Given the description of an element on the screen output the (x, y) to click on. 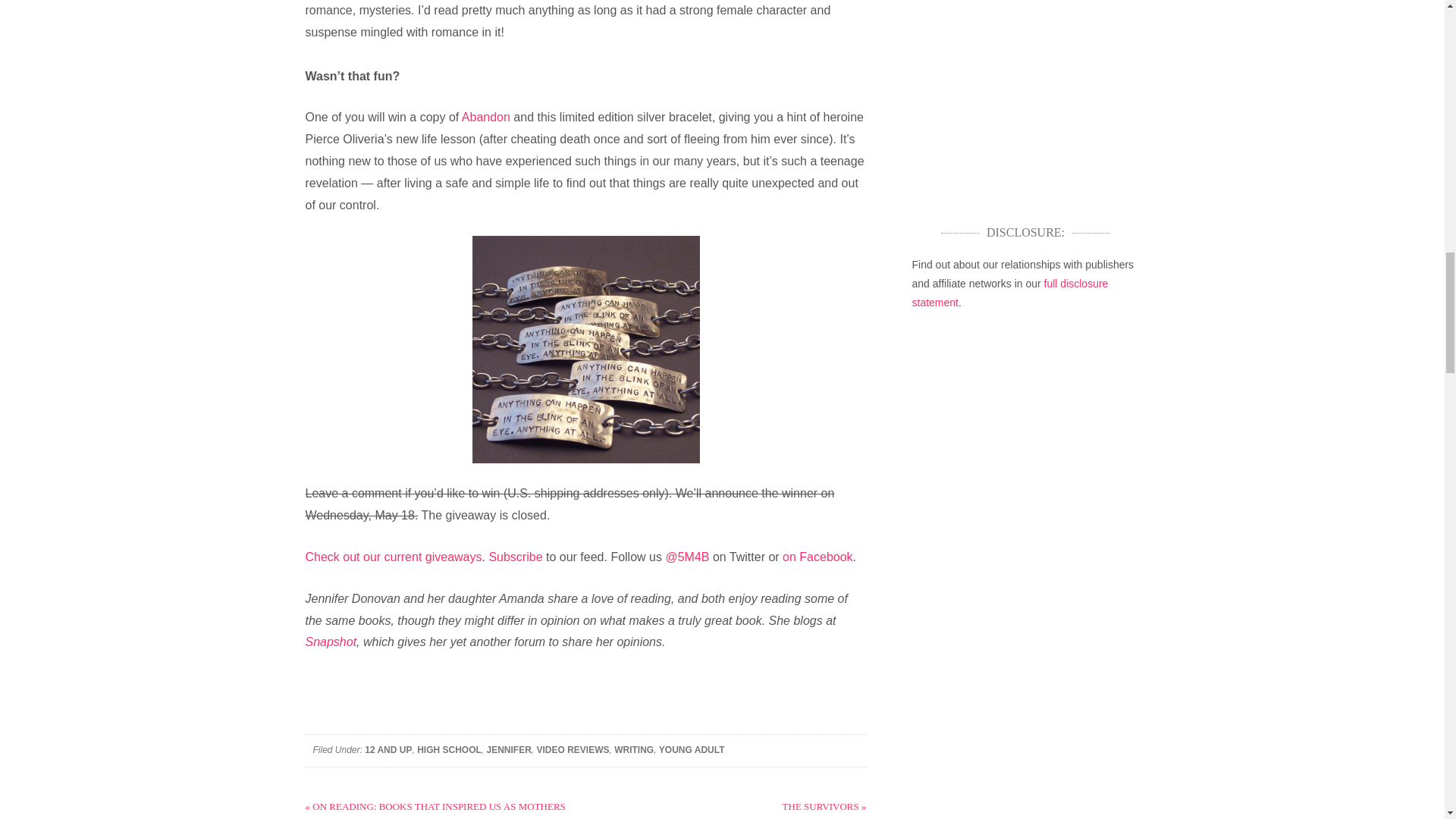
Snapshot (330, 641)
Subscribe (514, 556)
12 AND UP (388, 749)
HIGH SCHOOL (448, 749)
abandonbracelet (584, 349)
VIDEO REVIEWS (571, 749)
on Facebook (818, 556)
Abandon (486, 116)
WRITING (633, 749)
JENNIFER (508, 749)
Check out our current giveaways (392, 556)
